Given the description of an element on the screen output the (x, y) to click on. 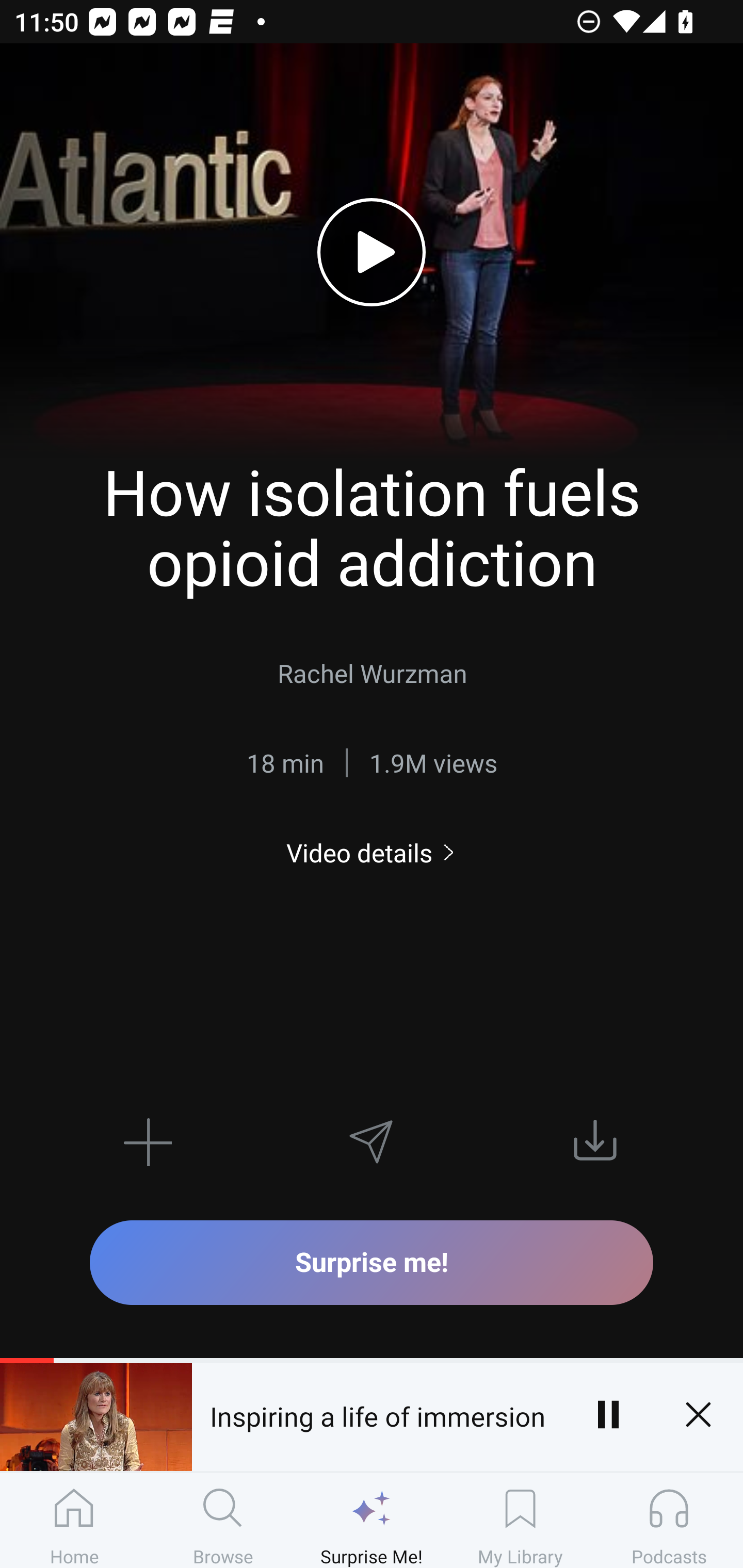
Video details (371, 852)
Surprise me! (371, 1261)
Inspiring a life of immersion (377, 1413)
Home (74, 1520)
Browse (222, 1520)
Surprise Me! (371, 1520)
My Library (519, 1520)
Podcasts (668, 1520)
